Given the description of an element on the screen output the (x, y) to click on. 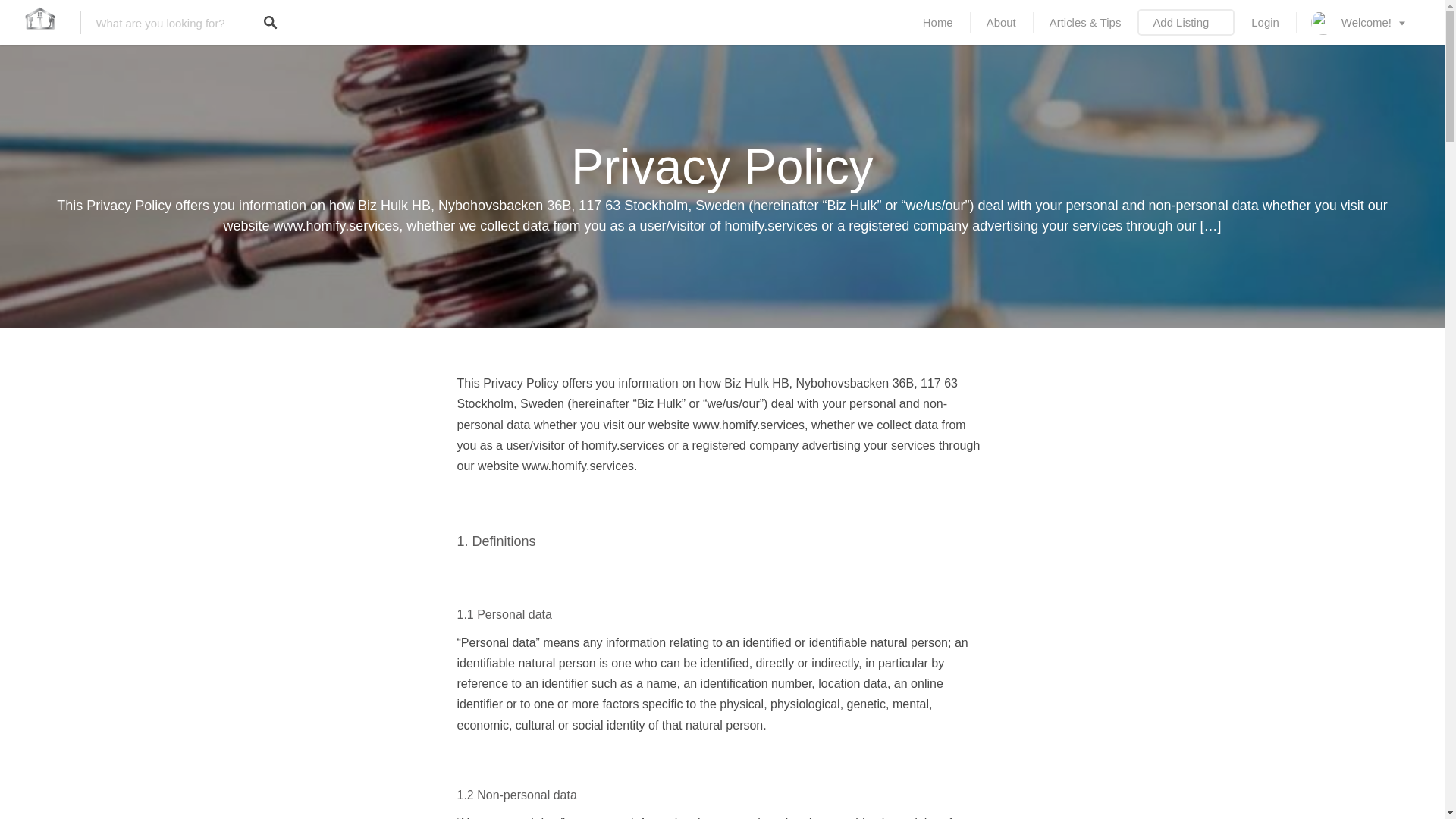
About (1000, 22)
Home (937, 22)
Welcome! (1358, 22)
Add Listing (1185, 22)
Login (1264, 22)
